Given the description of an element on the screen output the (x, y) to click on. 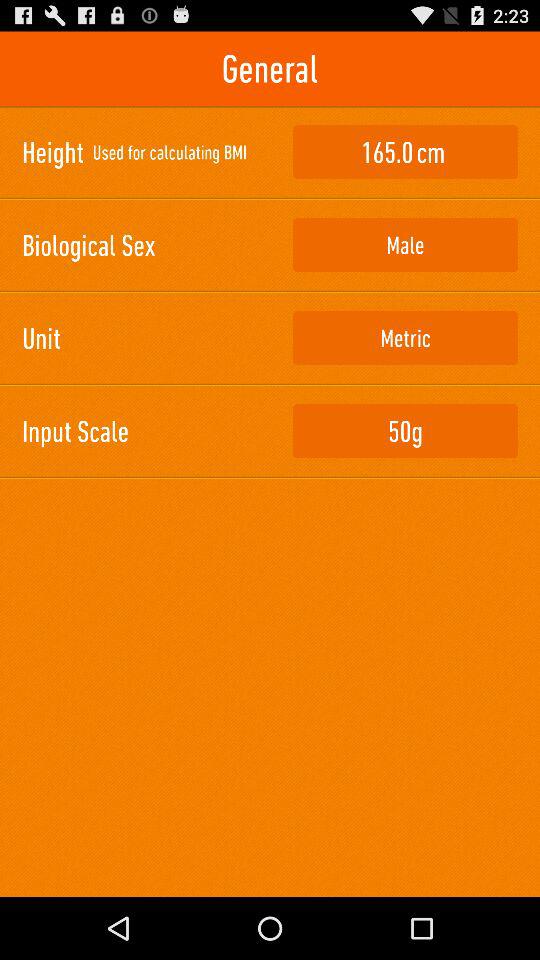
choose icon next to used for calculating (405, 152)
